Given the description of an element on the screen output the (x, y) to click on. 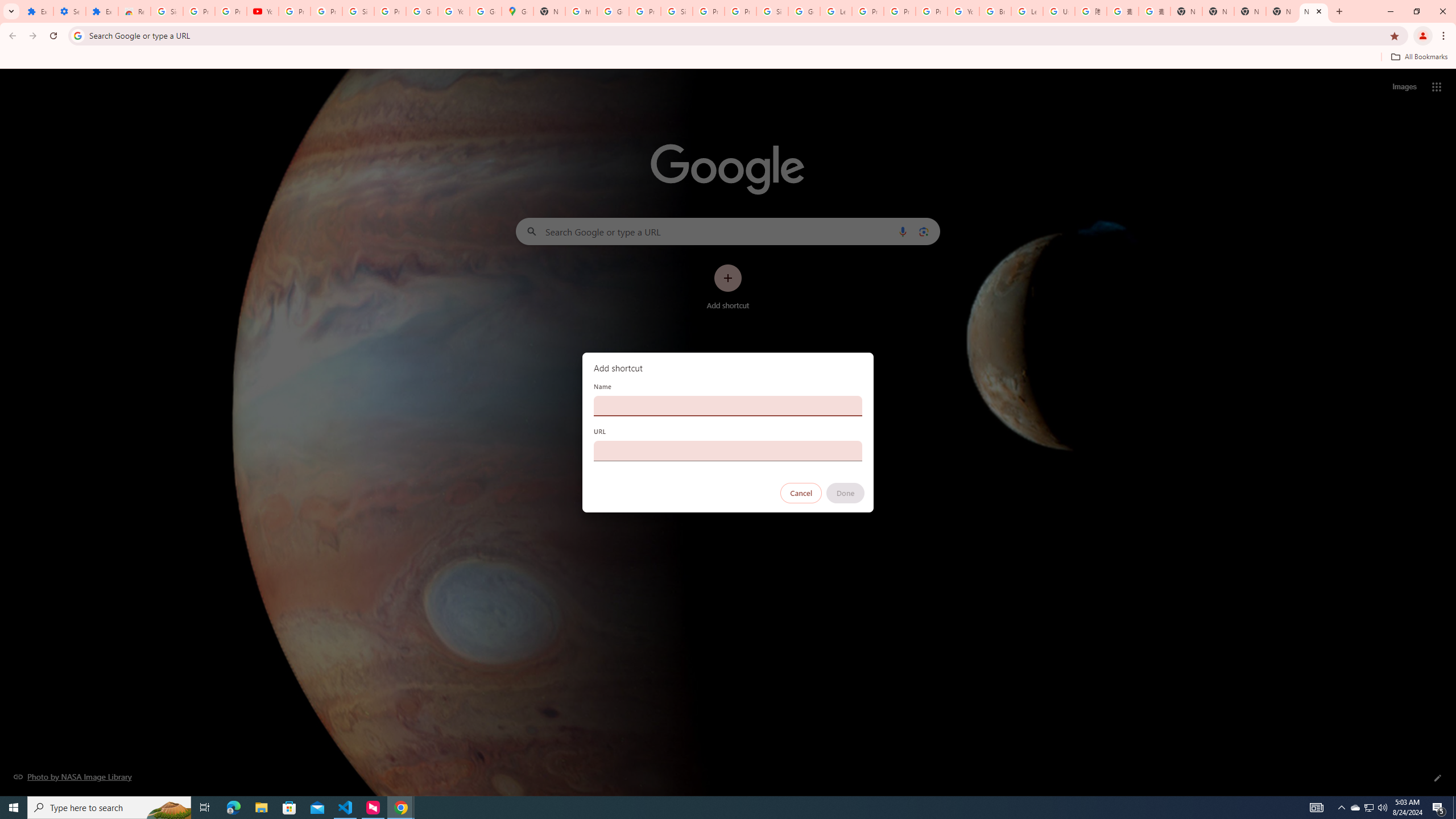
Sign in - Google Accounts (166, 11)
Sign in - Google Accounts (358, 11)
Sign in - Google Accounts (772, 11)
Bookmarks (728, 58)
https://scholar.google.com/ (581, 11)
Extensions (37, 11)
